Given the description of an element on the screen output the (x, y) to click on. 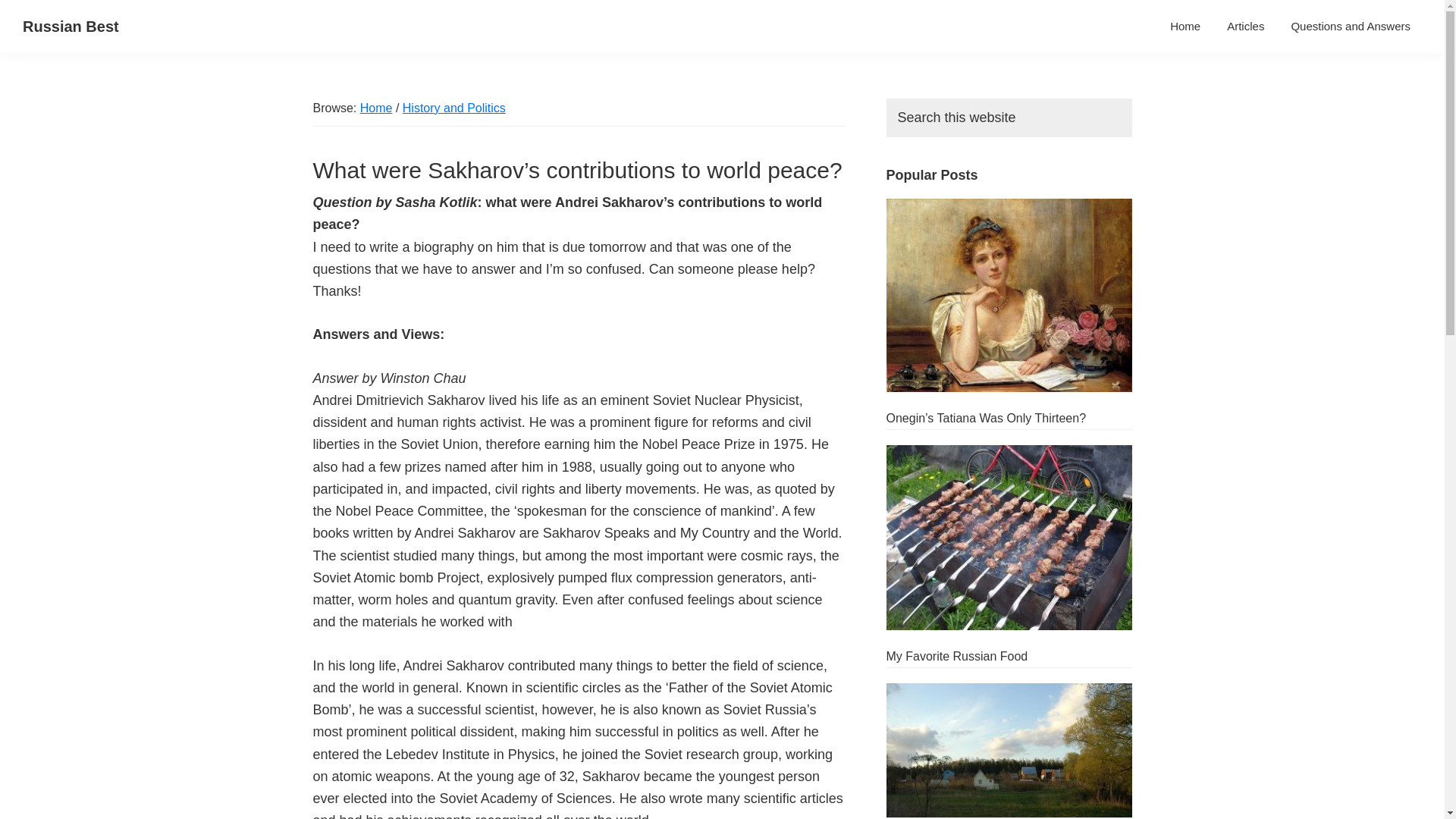
Home (376, 107)
Questions and Answers (1350, 25)
My Favorite Russian Food (956, 656)
Articles (1245, 25)
History and Politics (454, 107)
Russian Best (71, 26)
Home (1184, 25)
